Given the description of an element on the screen output the (x, y) to click on. 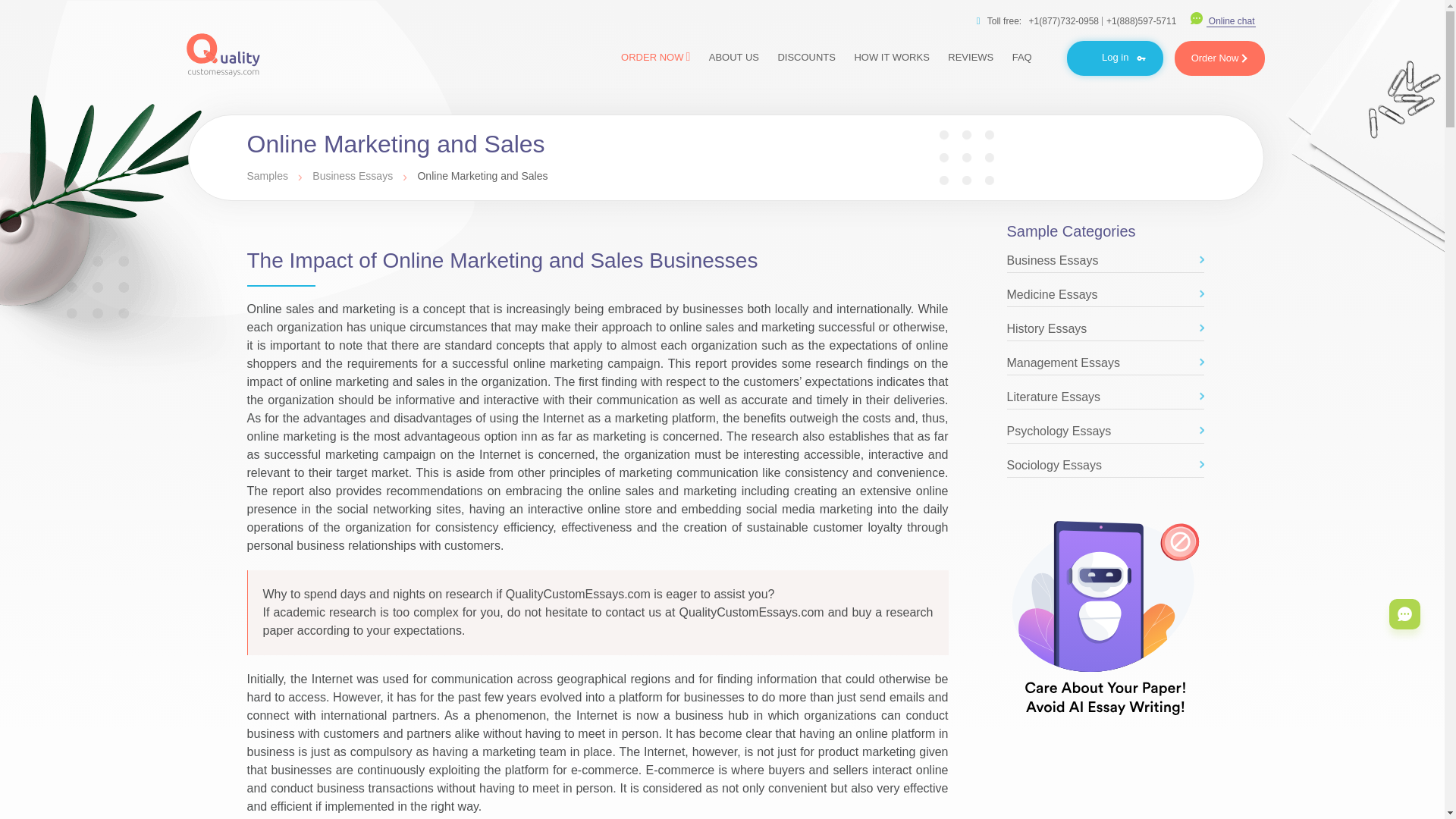
Literature Essays (1105, 398)
Samples (269, 175)
DISCOUNTS (806, 57)
Online chat (1223, 20)
ORDER NOW (654, 56)
Go to Samples (269, 175)
Psychology Essays (1105, 432)
HOW IT WORKS (890, 57)
REVIEWS (970, 57)
Order Now (1219, 58)
